Given the description of an element on the screen output the (x, y) to click on. 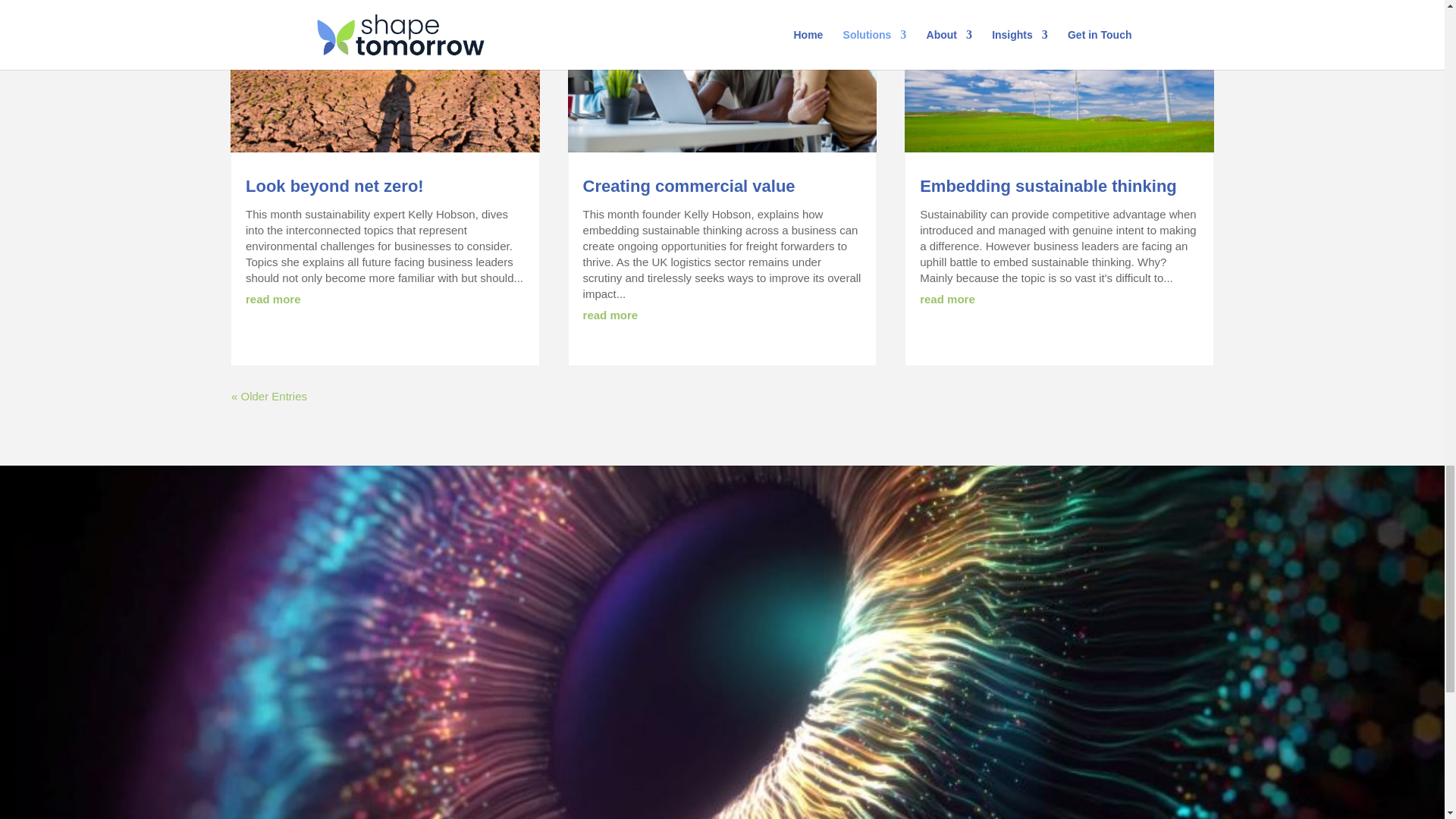
read more (273, 298)
read more (611, 314)
Creating commercial value (688, 185)
Look beyond net zero! (334, 185)
